Given the description of an element on the screen output the (x, y) to click on. 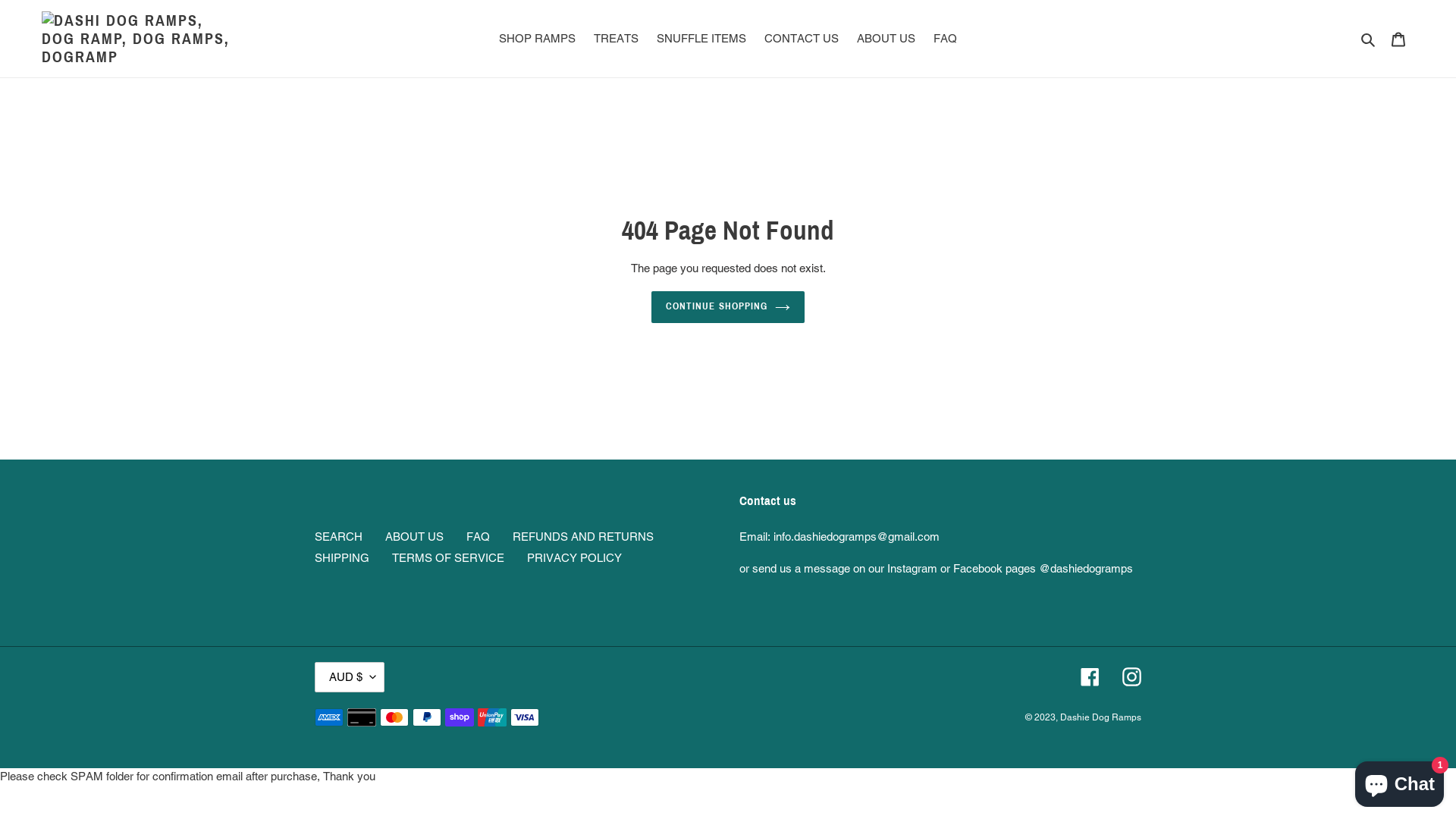
Dashie Dog Ramps Element type: text (1100, 717)
Facebook Element type: text (1089, 676)
ABOUT US Element type: text (885, 39)
Cart Element type: text (1398, 38)
CONTACT US Element type: text (801, 39)
SHOP RAMPS Element type: text (537, 39)
CONTINUE SHOPPING Element type: text (727, 307)
PRIVACY POLICY Element type: text (574, 557)
Shopify online store chat Element type: hover (1399, 780)
ABOUT US Element type: text (414, 536)
FAQ Element type: text (477, 536)
SHIPPING Element type: text (341, 557)
REFUNDS AND RETURNS Element type: text (582, 536)
AUD $ Element type: text (349, 677)
Search Element type: text (1368, 38)
TERMS OF SERVICE Element type: text (448, 557)
Instagram Element type: text (1131, 676)
SNUFFLE ITEMS Element type: text (701, 39)
SEARCH Element type: text (338, 536)
FAQ Element type: text (944, 39)
TREATS Element type: text (616, 39)
